Given the description of an element on the screen output the (x, y) to click on. 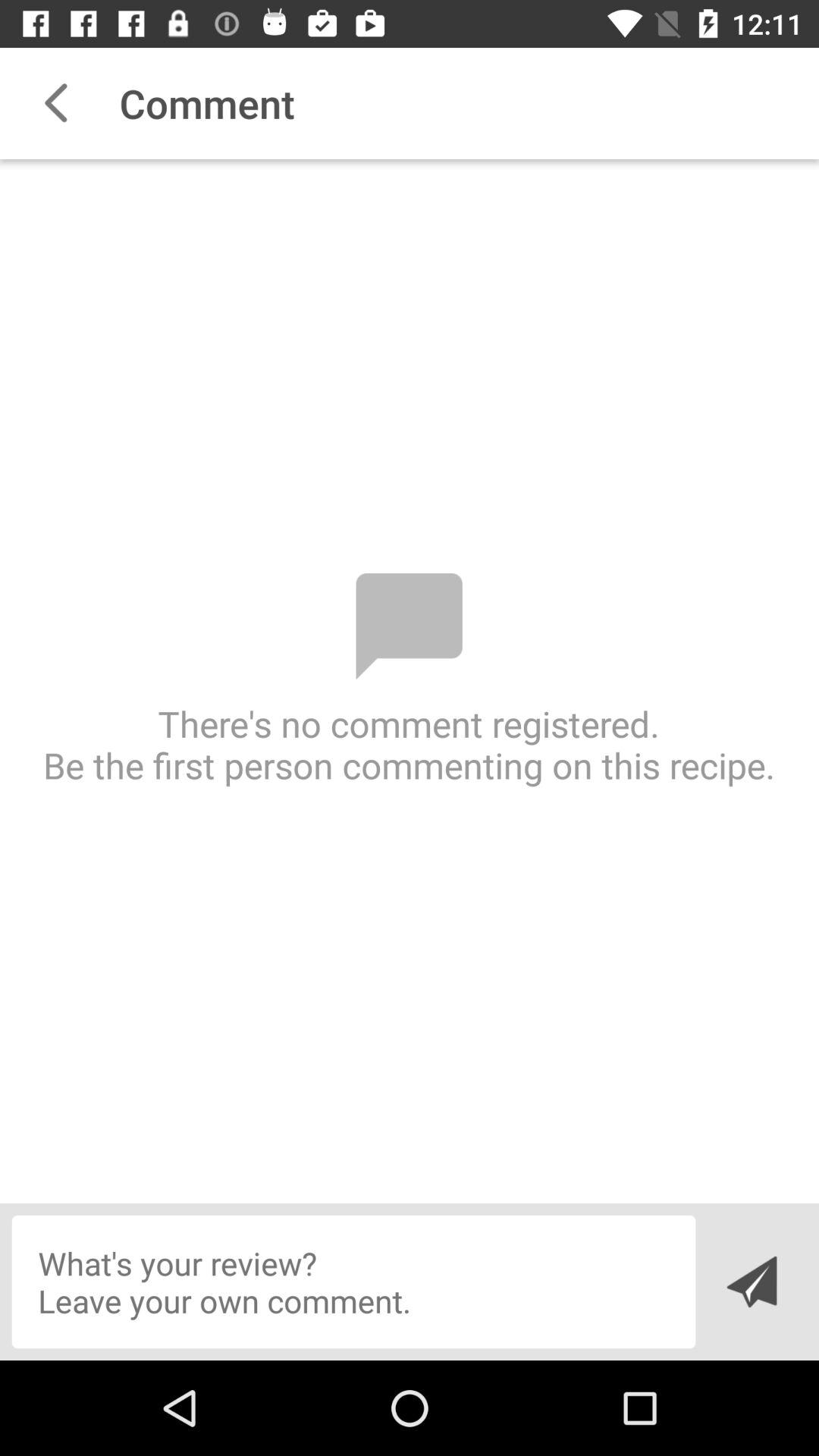
tap the icon to the left of the comment app (55, 103)
